Given the description of an element on the screen output the (x, y) to click on. 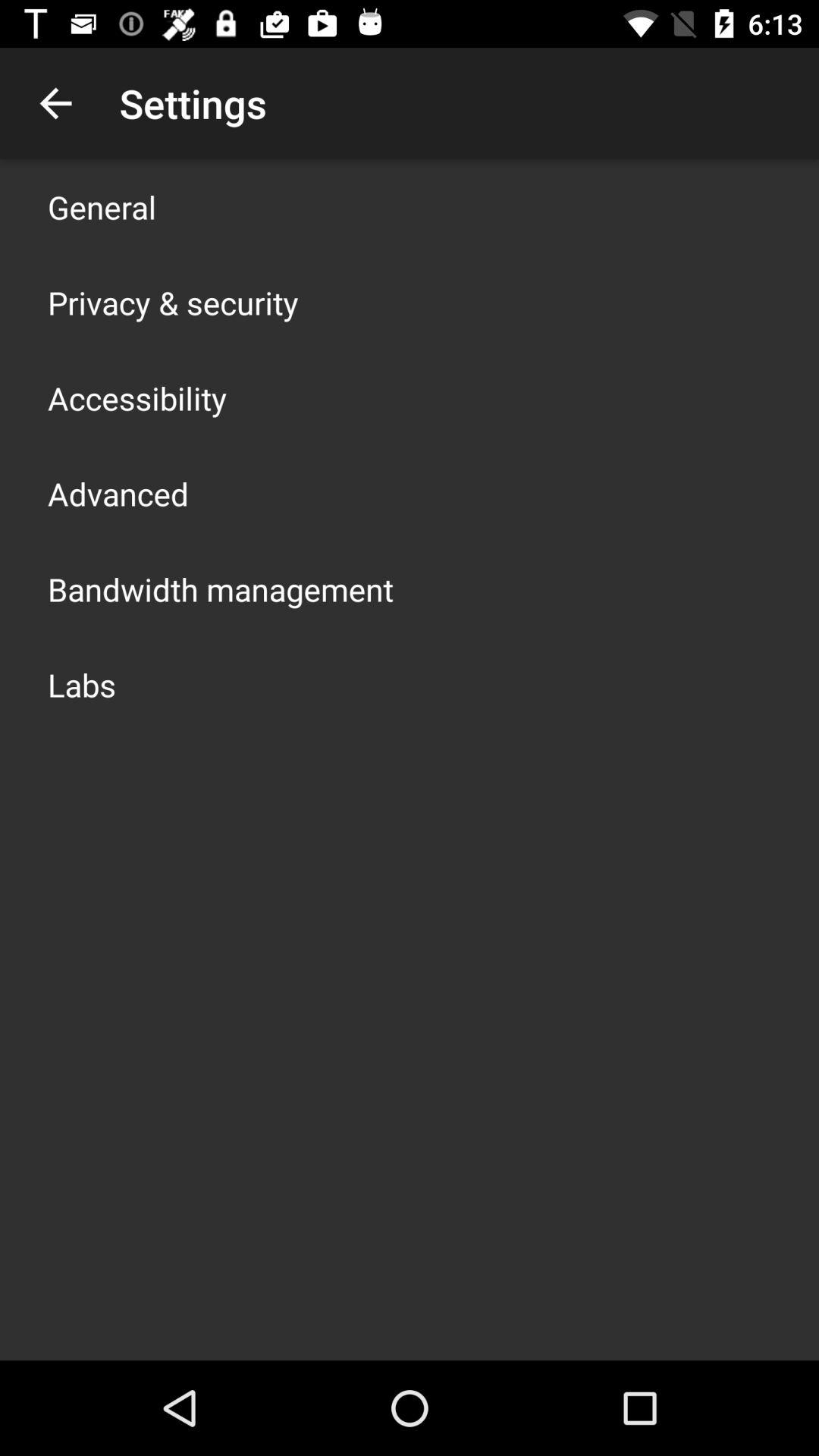
turn on app below the bandwidth management icon (81, 684)
